Given the description of an element on the screen output the (x, y) to click on. 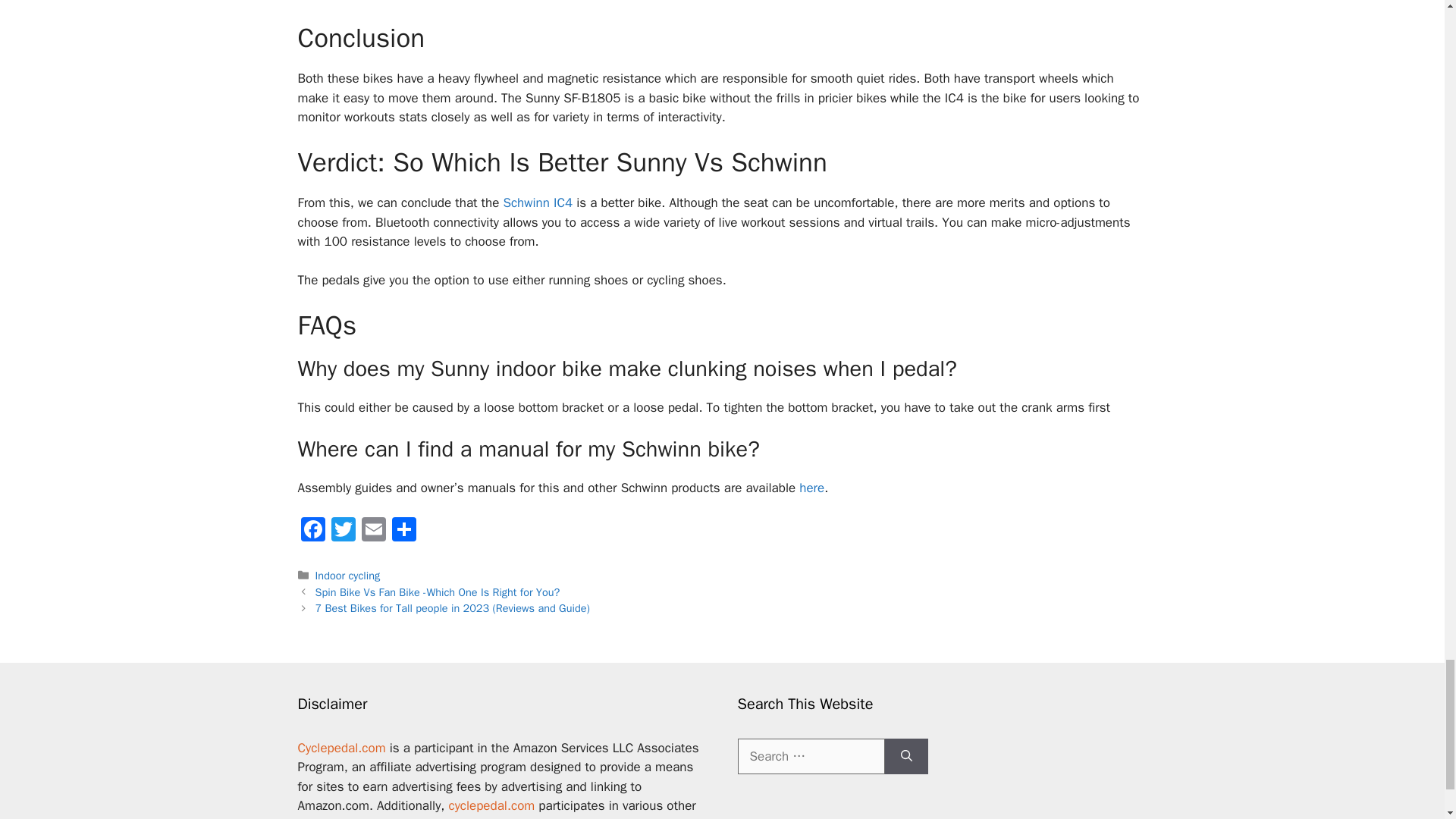
Facebook (312, 531)
Search for: (809, 756)
Email (373, 531)
Twitter (342, 531)
